Given the description of an element on the screen output the (x, y) to click on. 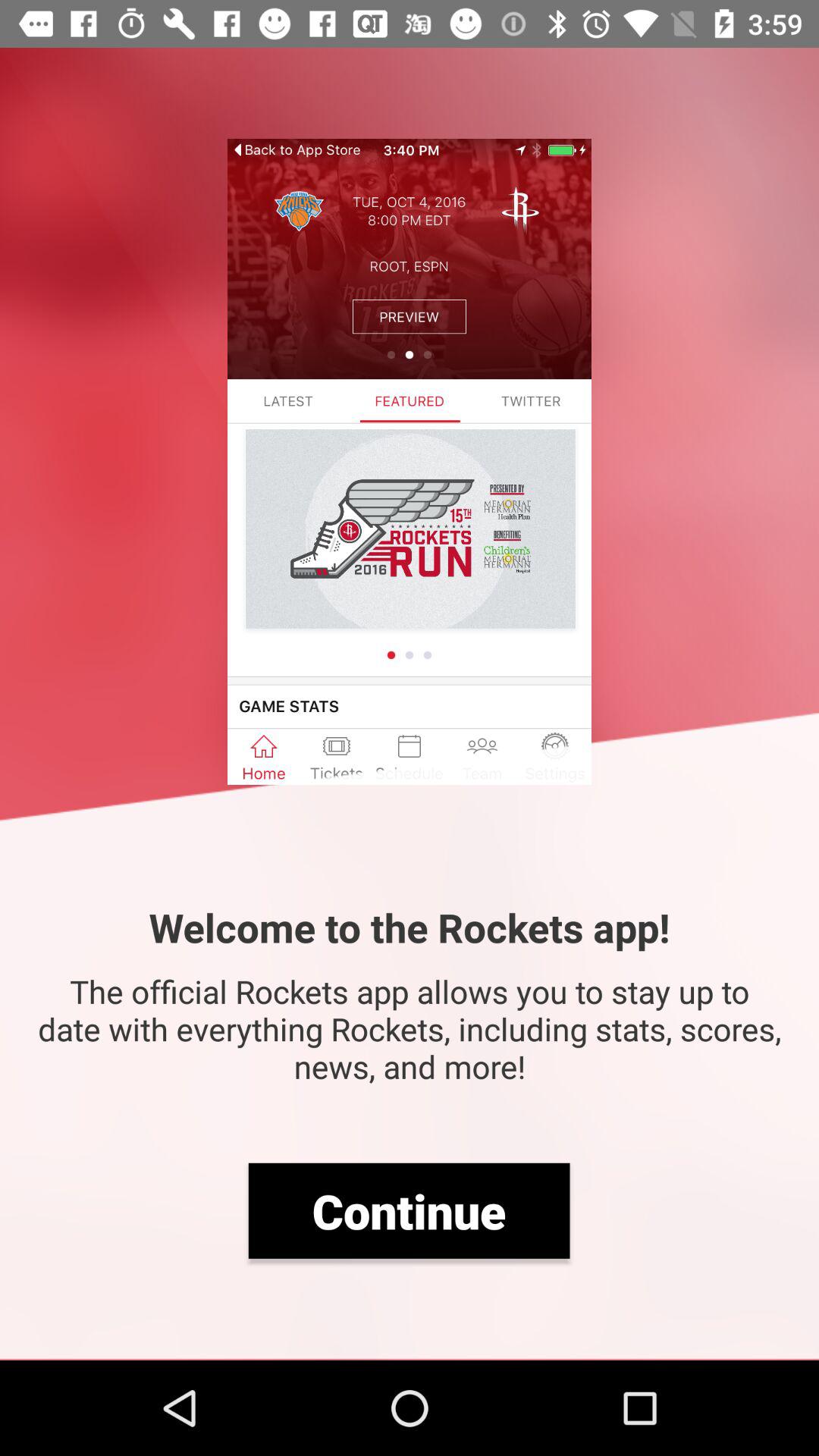
select item below the official rockets item (408, 1210)
